Given the description of an element on the screen output the (x, y) to click on. 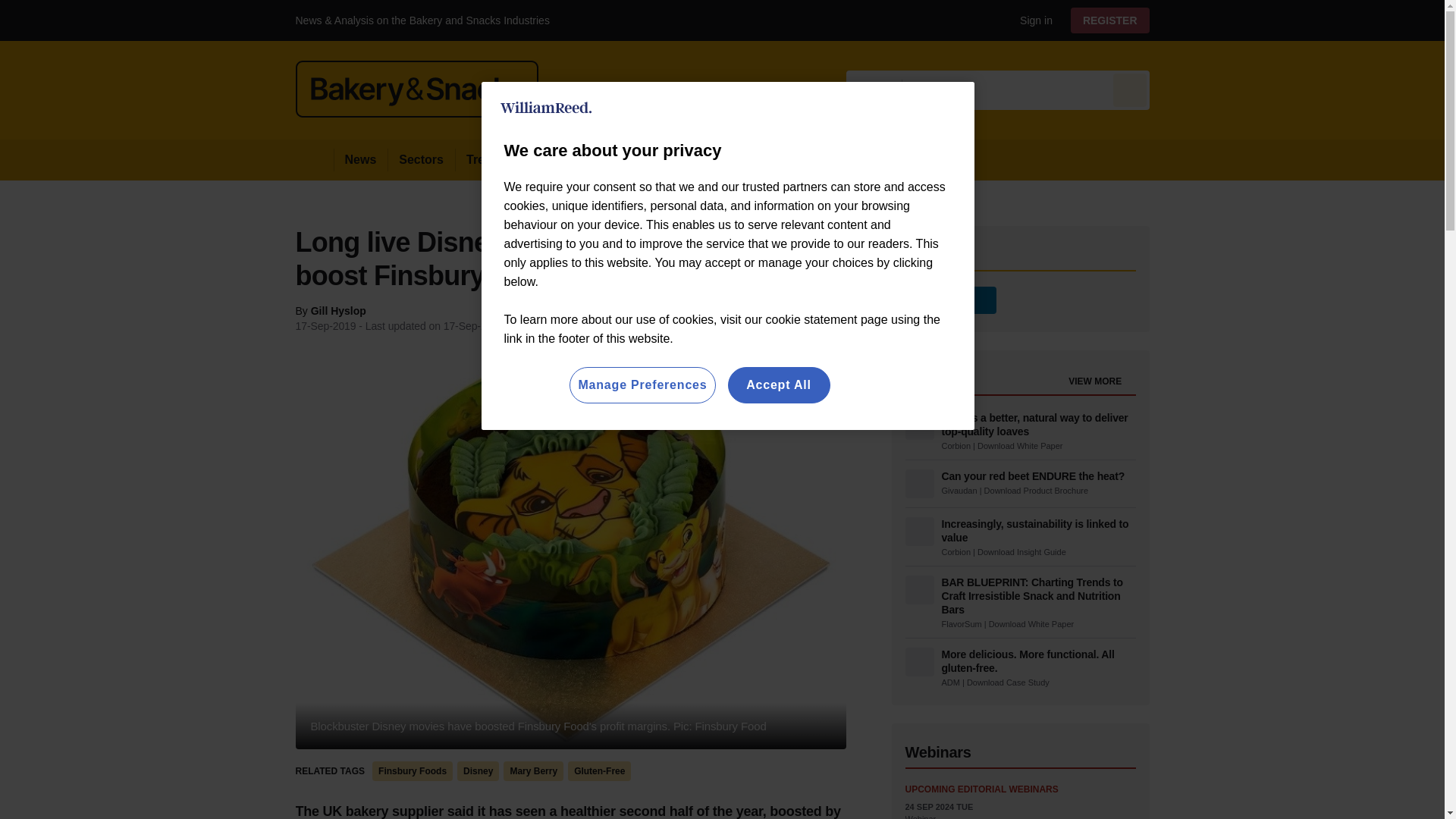
William Reed (545, 107)
Home (314, 159)
REGISTER (1110, 20)
Home (313, 159)
Sign out (1032, 20)
Sign in (1029, 20)
Send (1129, 90)
News (360, 159)
Send (1129, 89)
Sectors (420, 159)
My account (1114, 20)
